Given the description of an element on the screen output the (x, y) to click on. 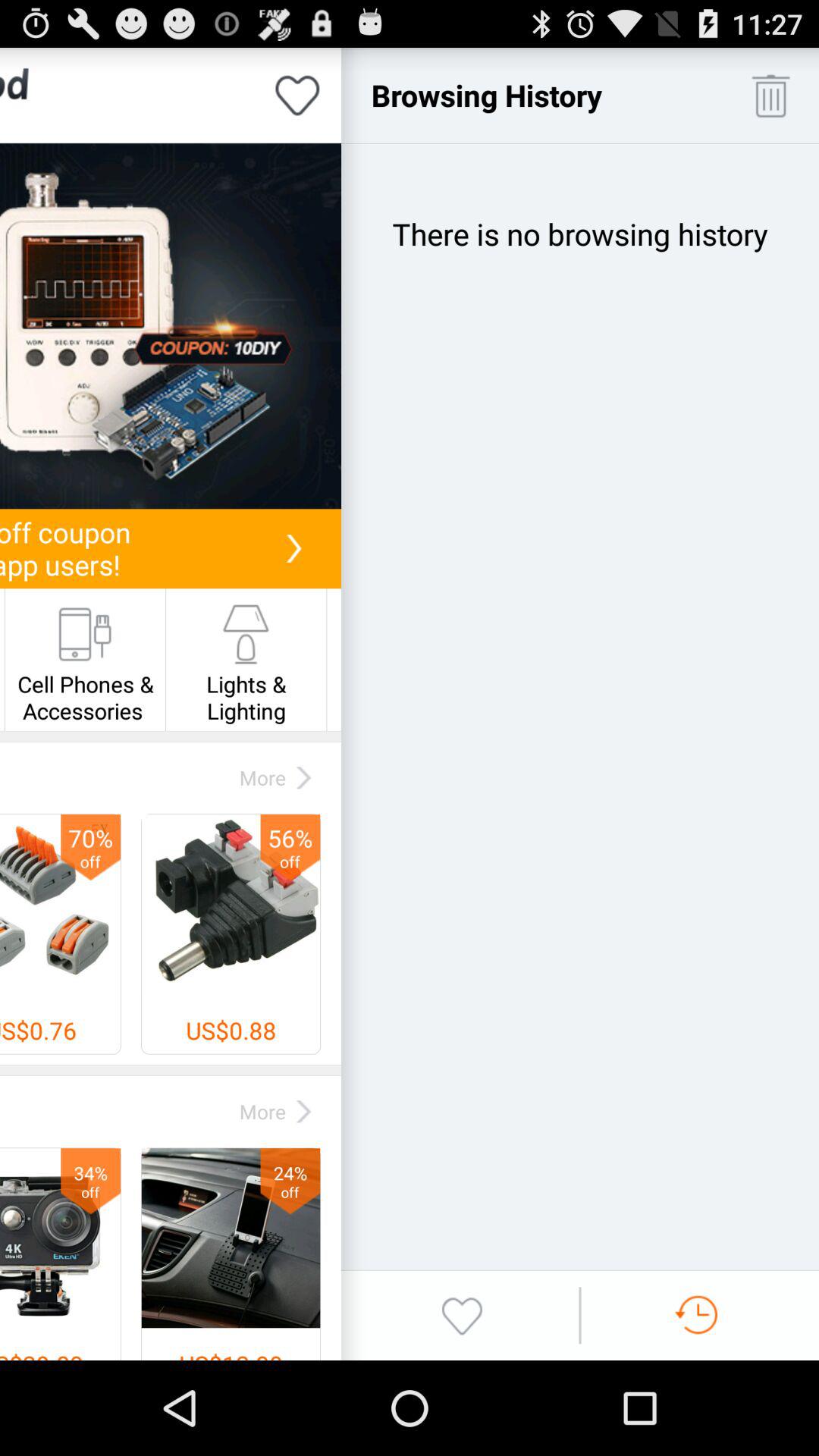
get coupon (170, 326)
